Given the description of an element on the screen output the (x, y) to click on. 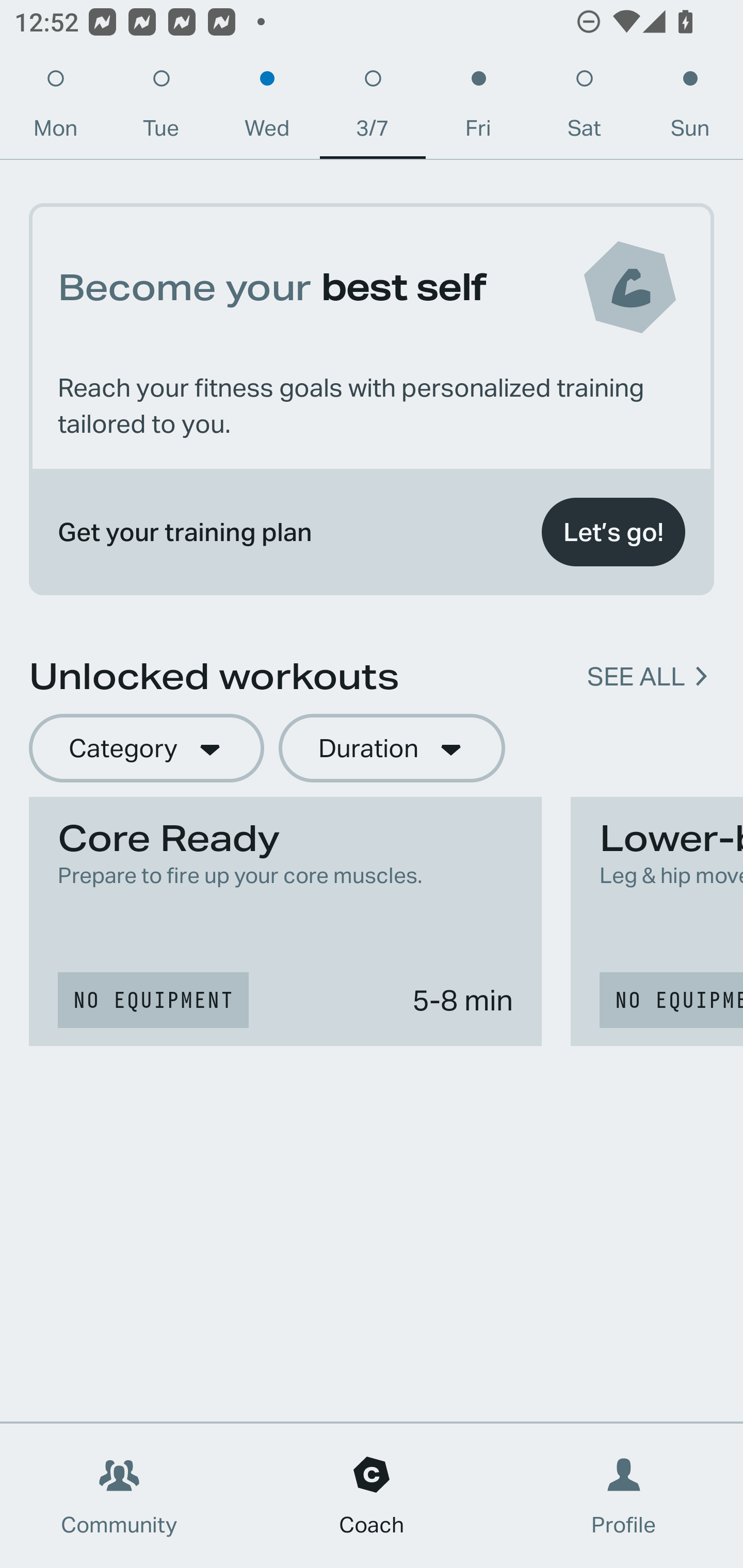
Mon (55, 108)
Tue (160, 108)
Wed (266, 108)
3/7 (372, 108)
Fri (478, 108)
Sat (584, 108)
Sun (690, 108)
Let’s go! (613, 532)
SEE ALL (635, 676)
Category (146, 748)
Duration (391, 748)
Community (119, 1495)
Profile (624, 1495)
